Given the description of an element on the screen output the (x, y) to click on. 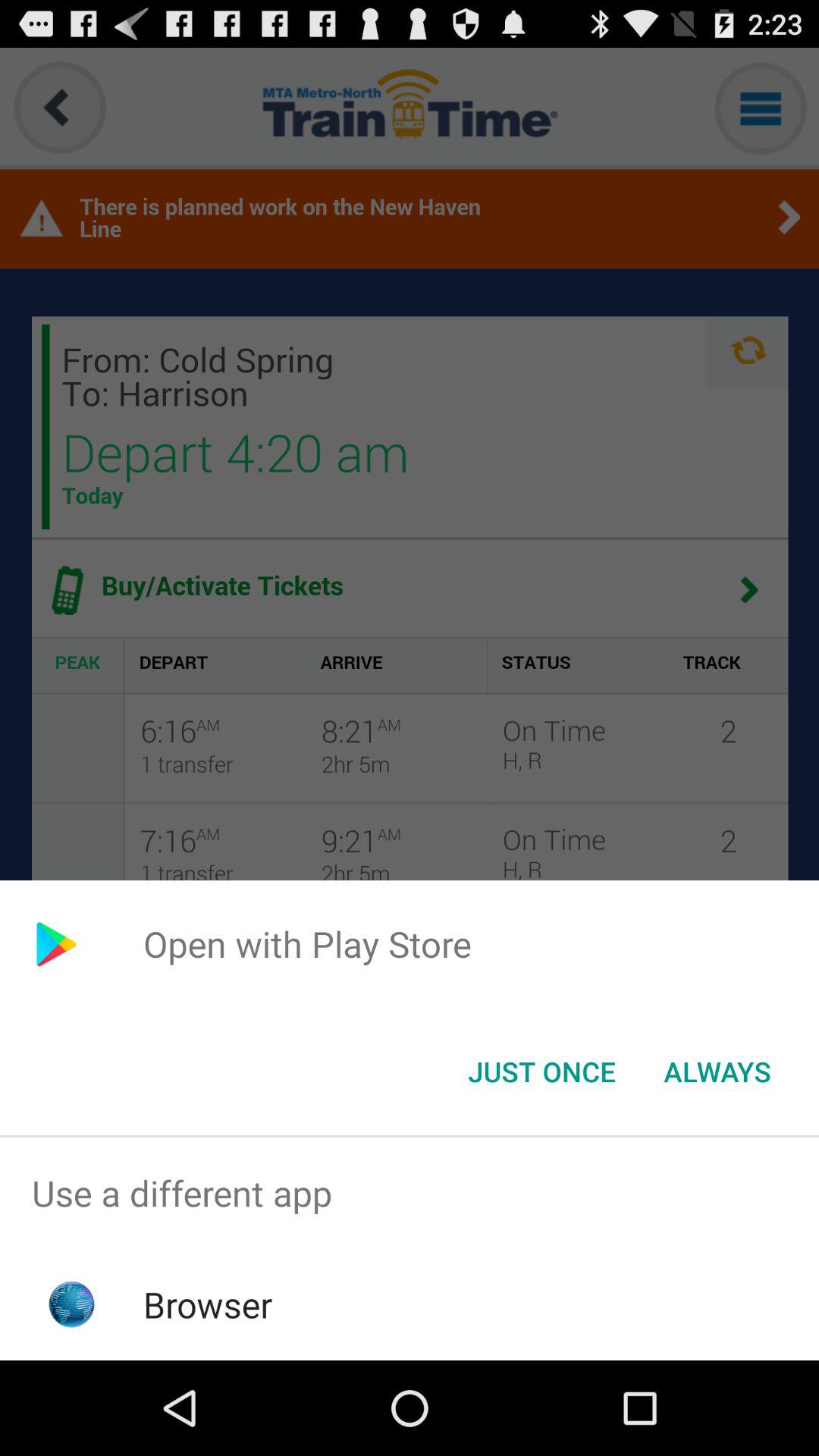
open button to the left of the always button (541, 1071)
